Given the description of an element on the screen output the (x, y) to click on. 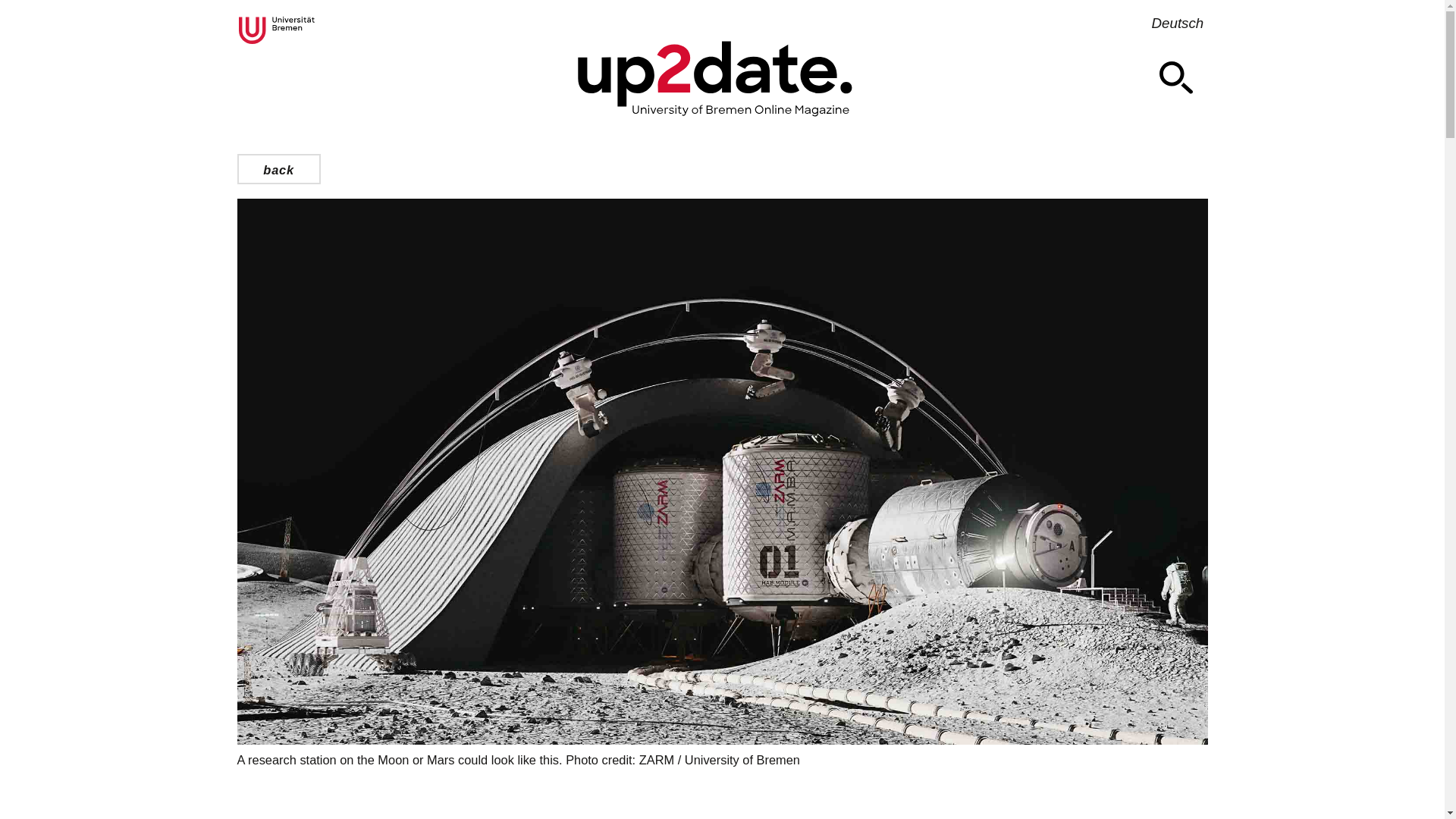
back (277, 168)
